Given the description of an element on the screen output the (x, y) to click on. 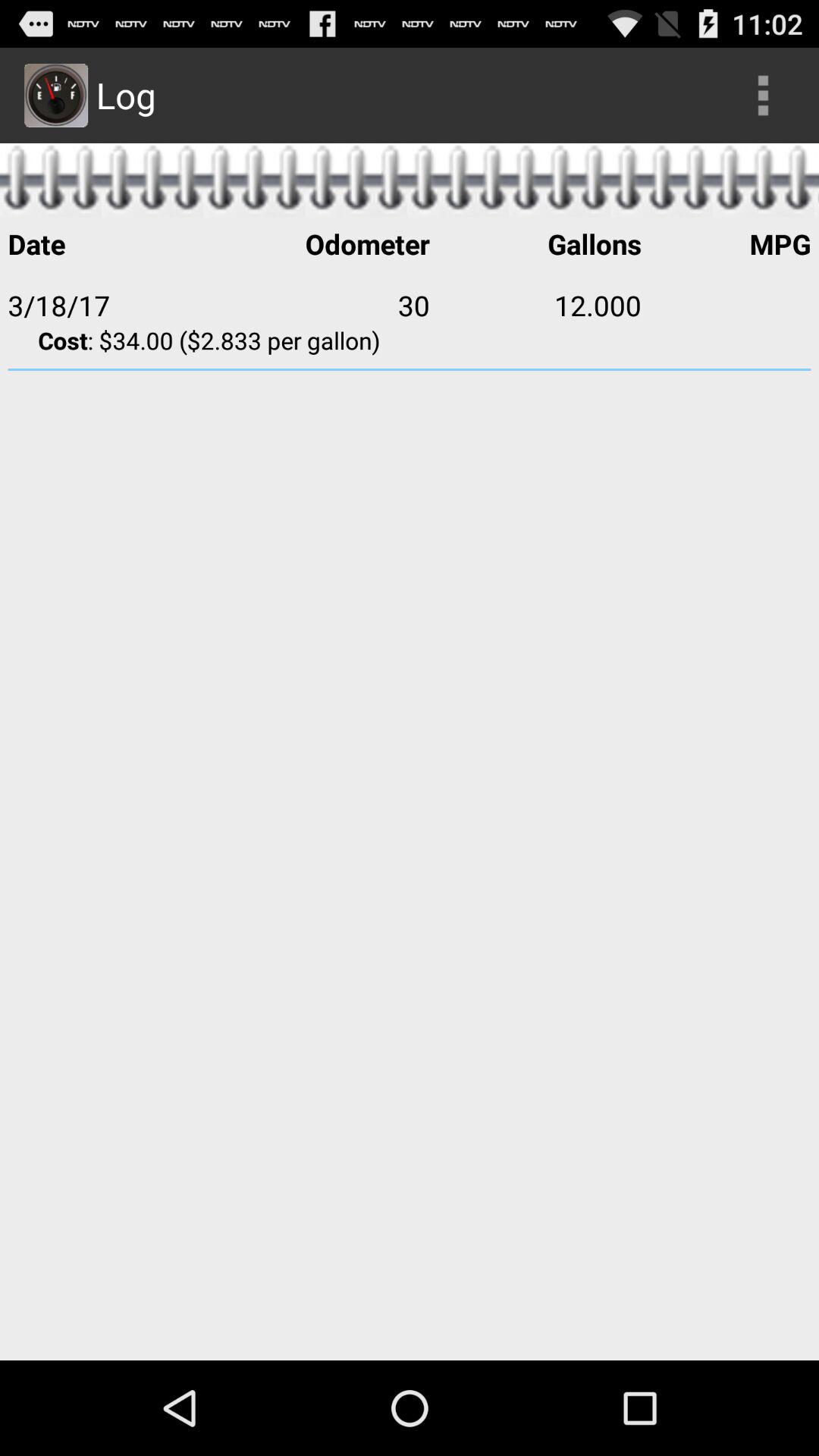
swipe to 30 item (323, 305)
